Given the description of an element on the screen output the (x, y) to click on. 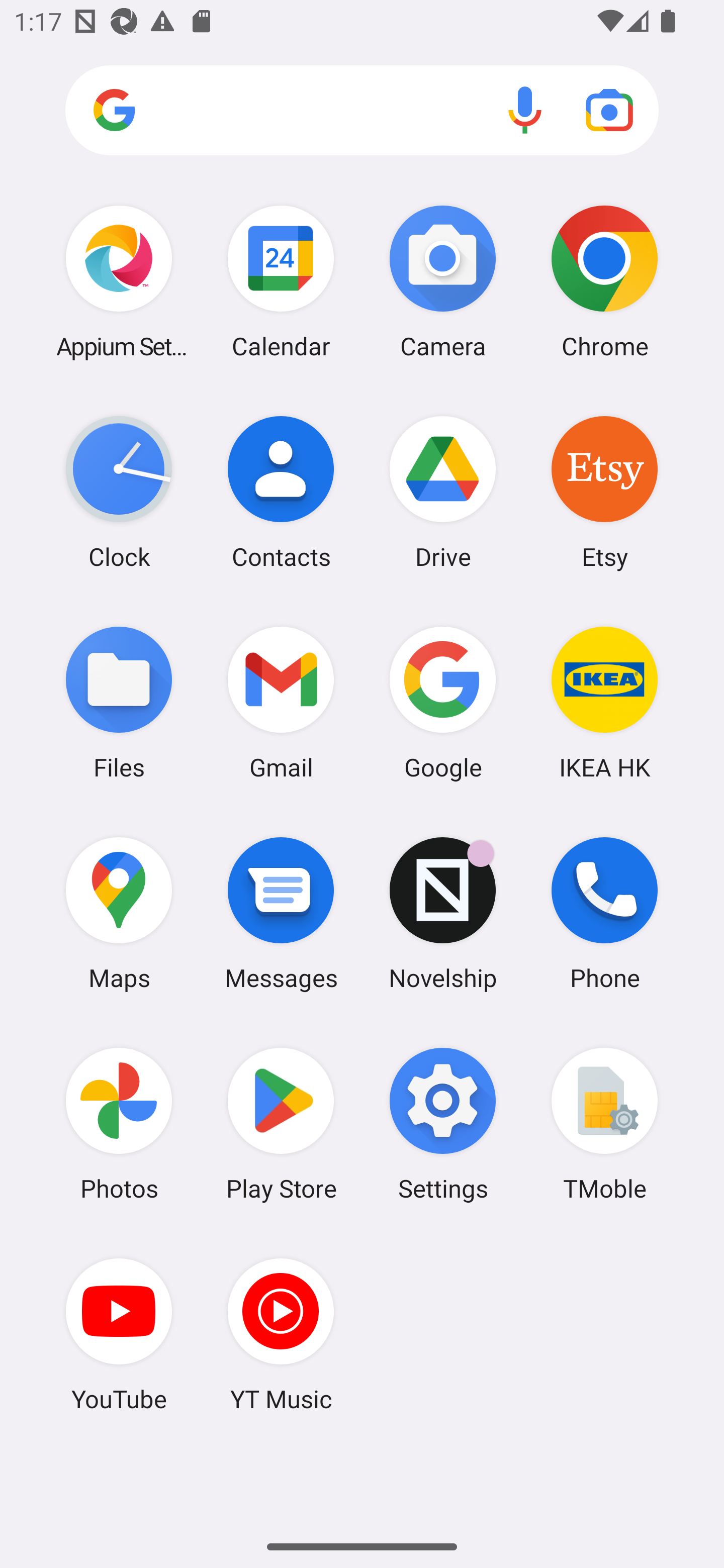
Search apps, web and more (361, 110)
Voice search (524, 109)
Google Lens (608, 109)
Appium Settings (118, 281)
Calendar (280, 281)
Camera (443, 281)
Chrome (604, 281)
Clock (118, 492)
Contacts (280, 492)
Drive (443, 492)
Etsy (604, 492)
Files (118, 702)
Gmail (280, 702)
Google (443, 702)
IKEA HK (604, 702)
Maps (118, 913)
Messages (280, 913)
Novelship Novelship has 7 notifications (443, 913)
Phone (604, 913)
Photos (118, 1124)
Play Store (280, 1124)
Settings (443, 1124)
TMoble (604, 1124)
YouTube (118, 1334)
YT Music (280, 1334)
